Given the description of an element on the screen output the (x, y) to click on. 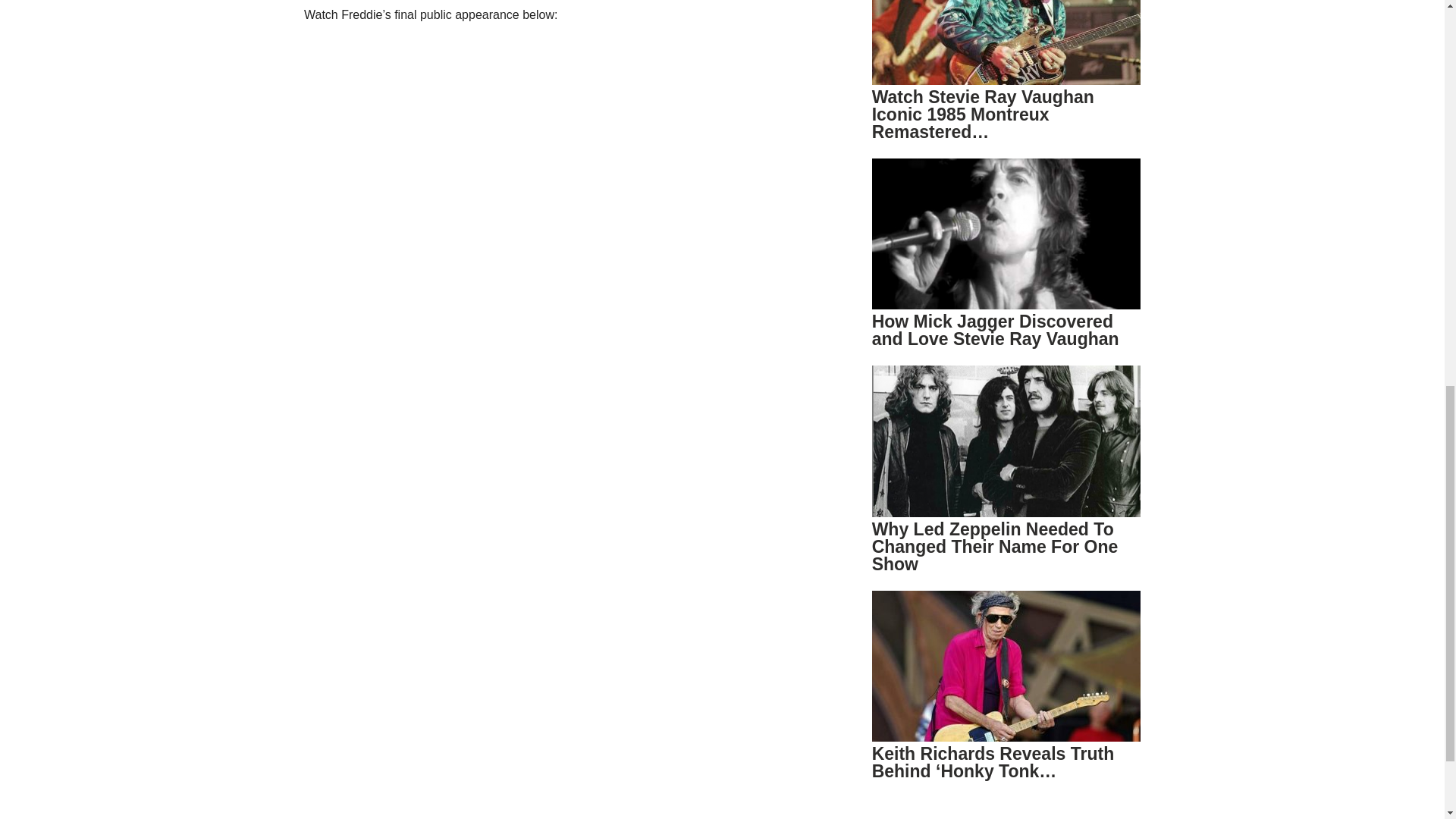
Why Led Zeppelin Needed To Changed Their Name For One Show (995, 546)
How Mick Jagger Discovered and Love Stevie Ray Vaughan (995, 330)
